Given the description of an element on the screen output the (x, y) to click on. 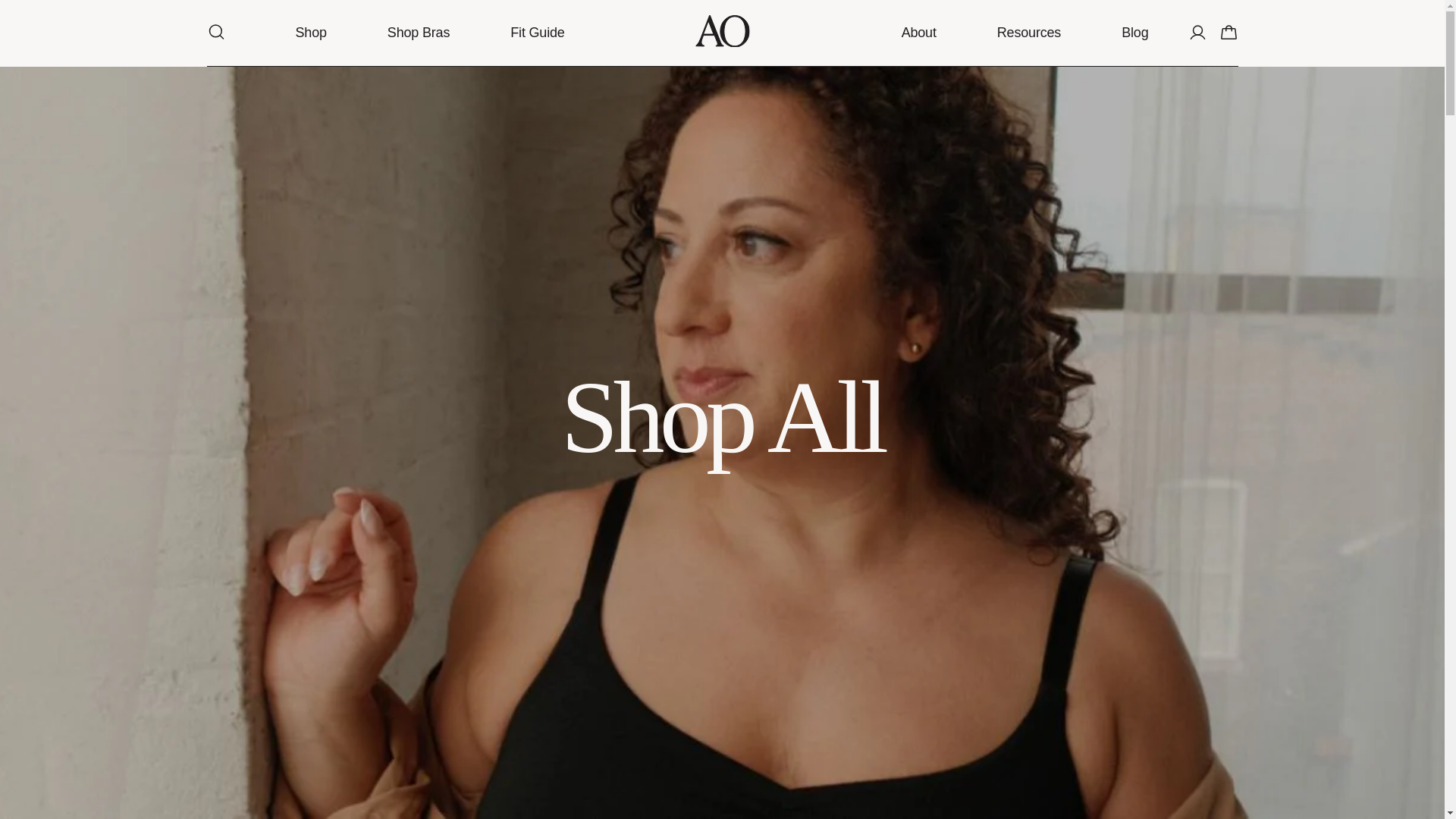
About (918, 33)
Shop Bras (418, 33)
AnaOno (722, 33)
Blog (1134, 33)
Fit Guide (537, 33)
Resources (1029, 33)
Shopping Cart (1229, 32)
Shop (310, 33)
